Given the description of an element on the screen output the (x, y) to click on. 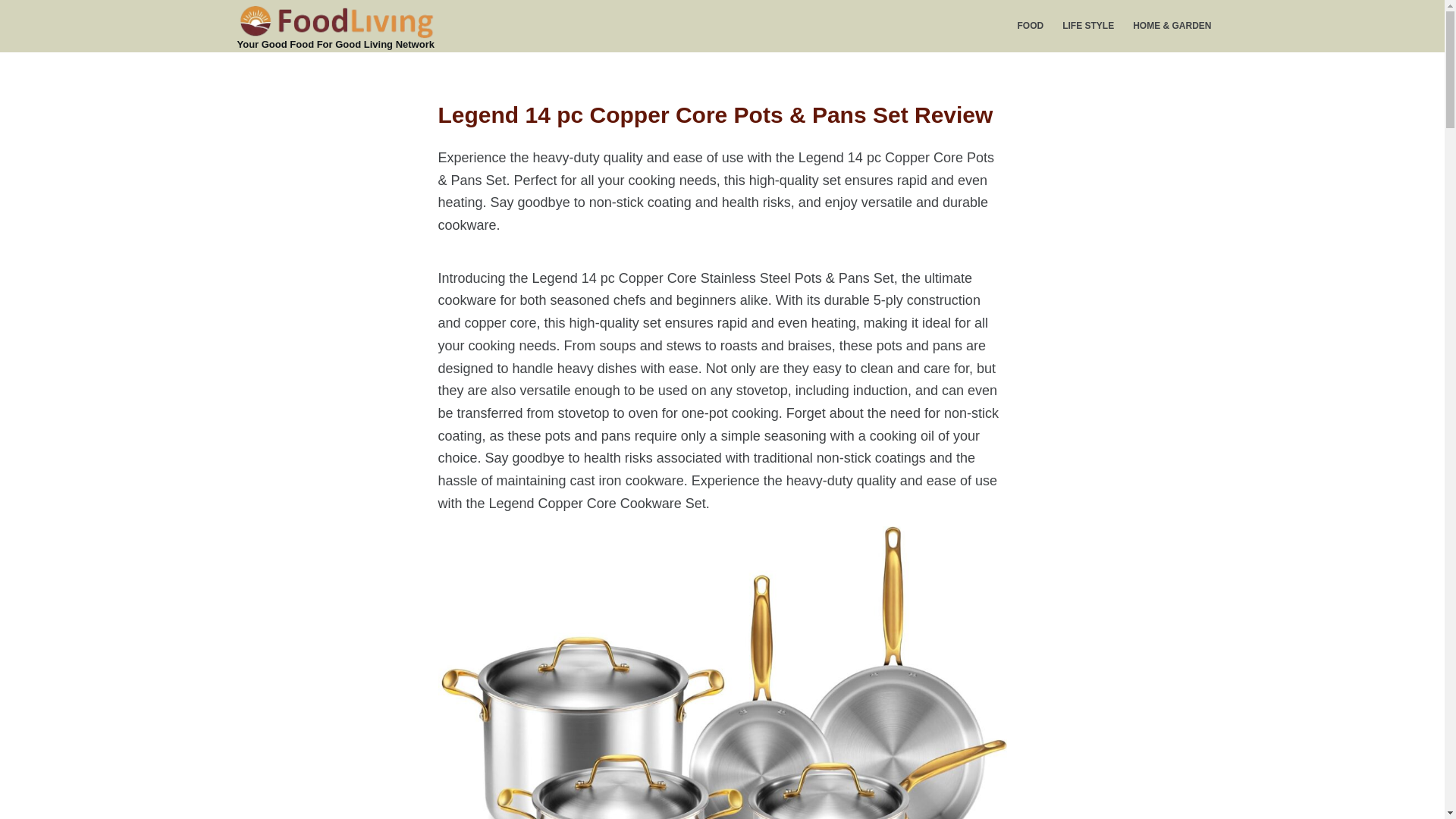
Skip to content (15, 7)
LIFE STYLE (1088, 26)
Your Good Food For Good Living Network (334, 43)
